Given the description of an element on the screen output the (x, y) to click on. 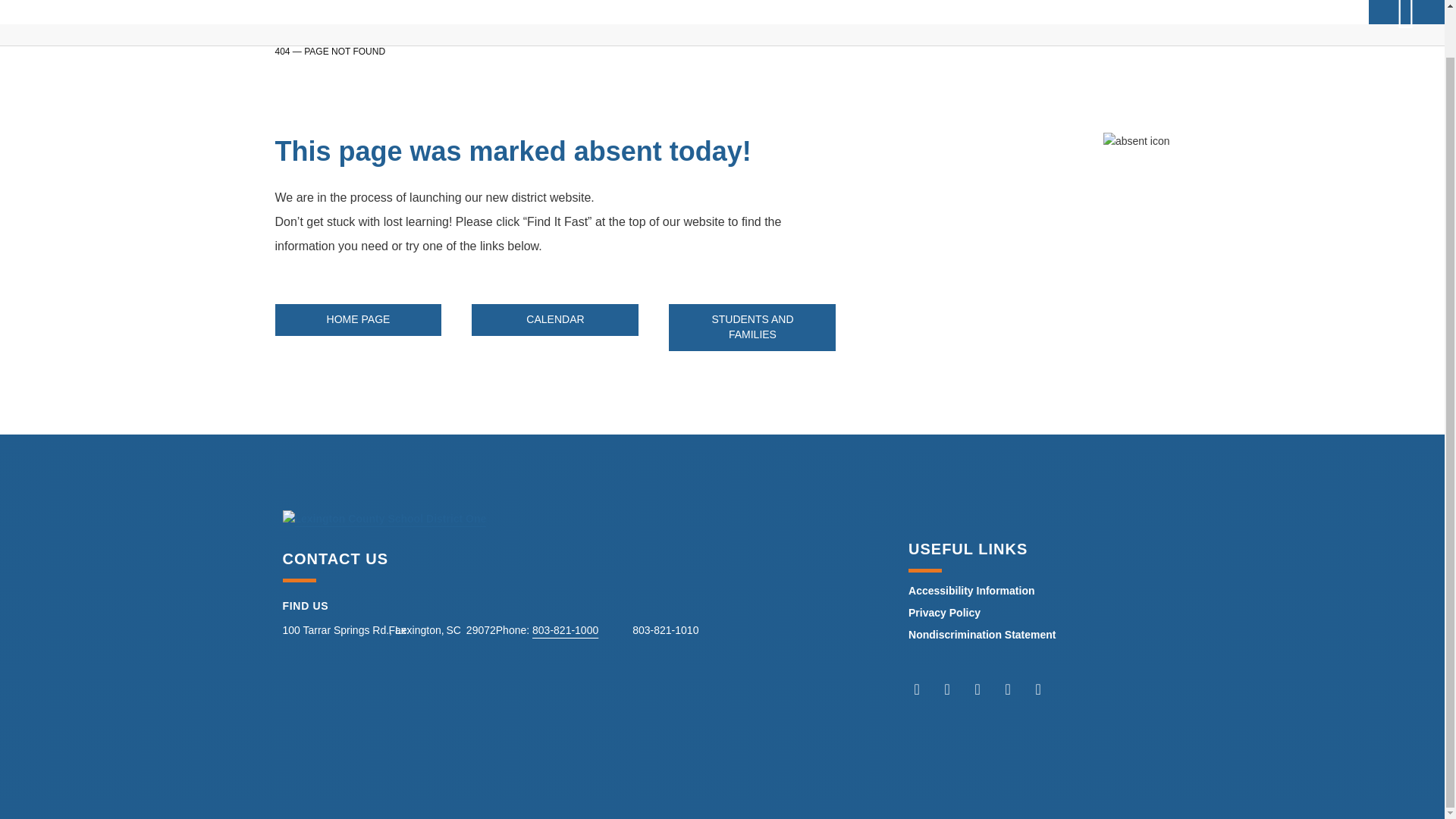
Students and Families (751, 326)
Lexington One home page (358, 319)
CALENDAR (555, 319)
